Given the description of an element on the screen output the (x, y) to click on. 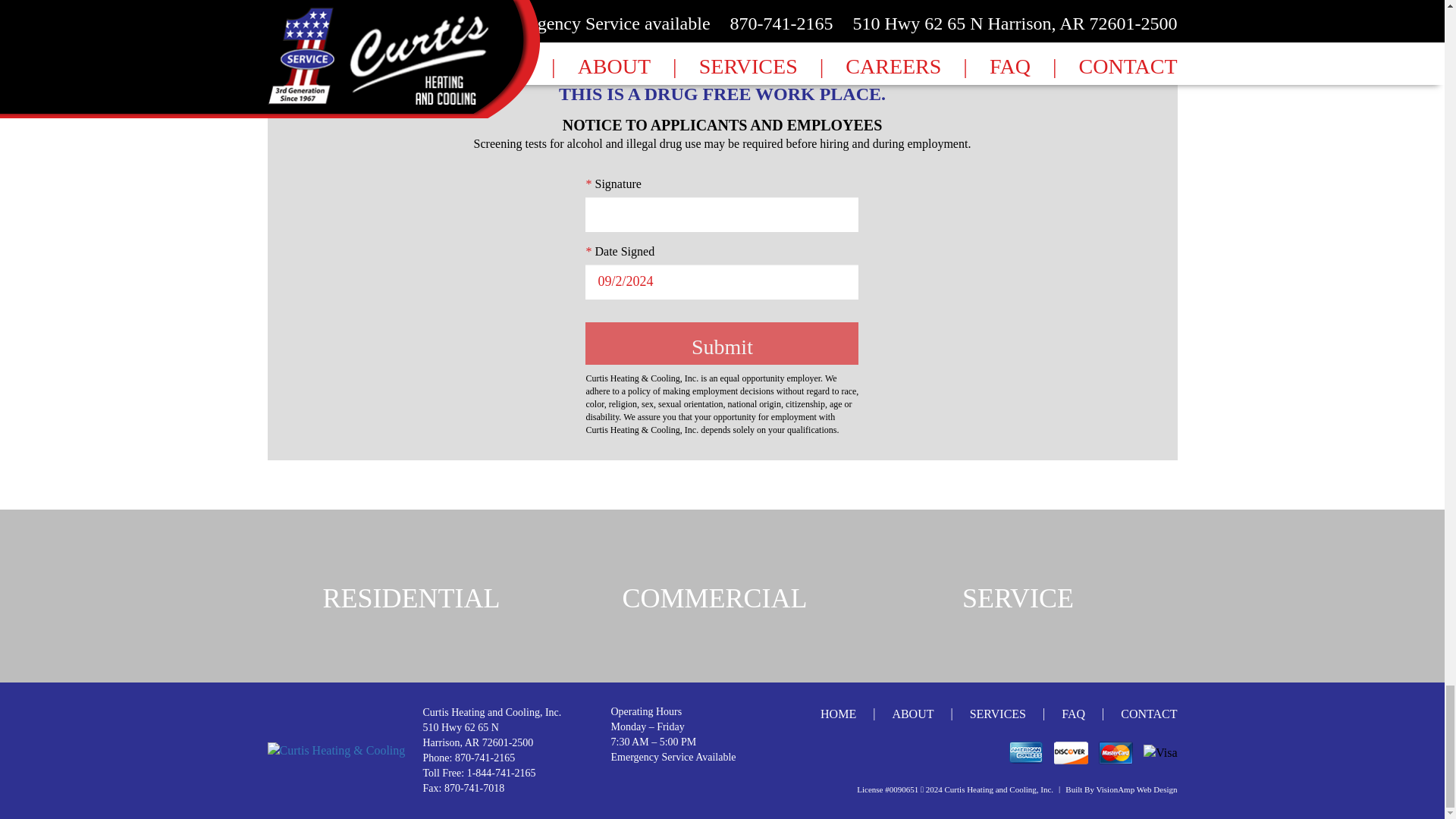
SERVICE (1025, 596)
RESIDENTIAL (418, 596)
COMMERCIAL (721, 596)
Submit (722, 343)
870-741-2165 (484, 757)
